Given the description of an element on the screen output the (x, y) to click on. 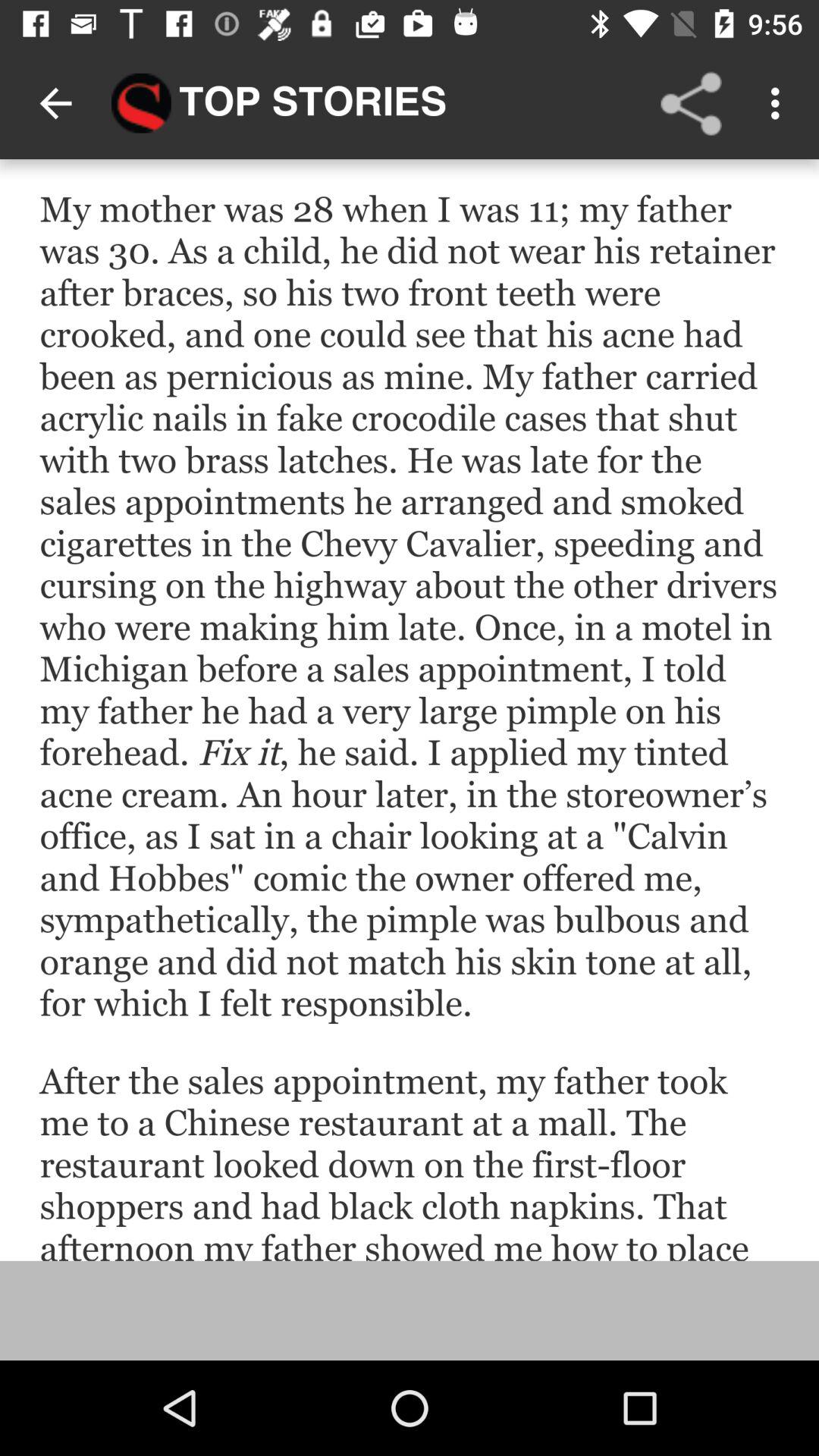
search information (409, 709)
